Given the description of an element on the screen output the (x, y) to click on. 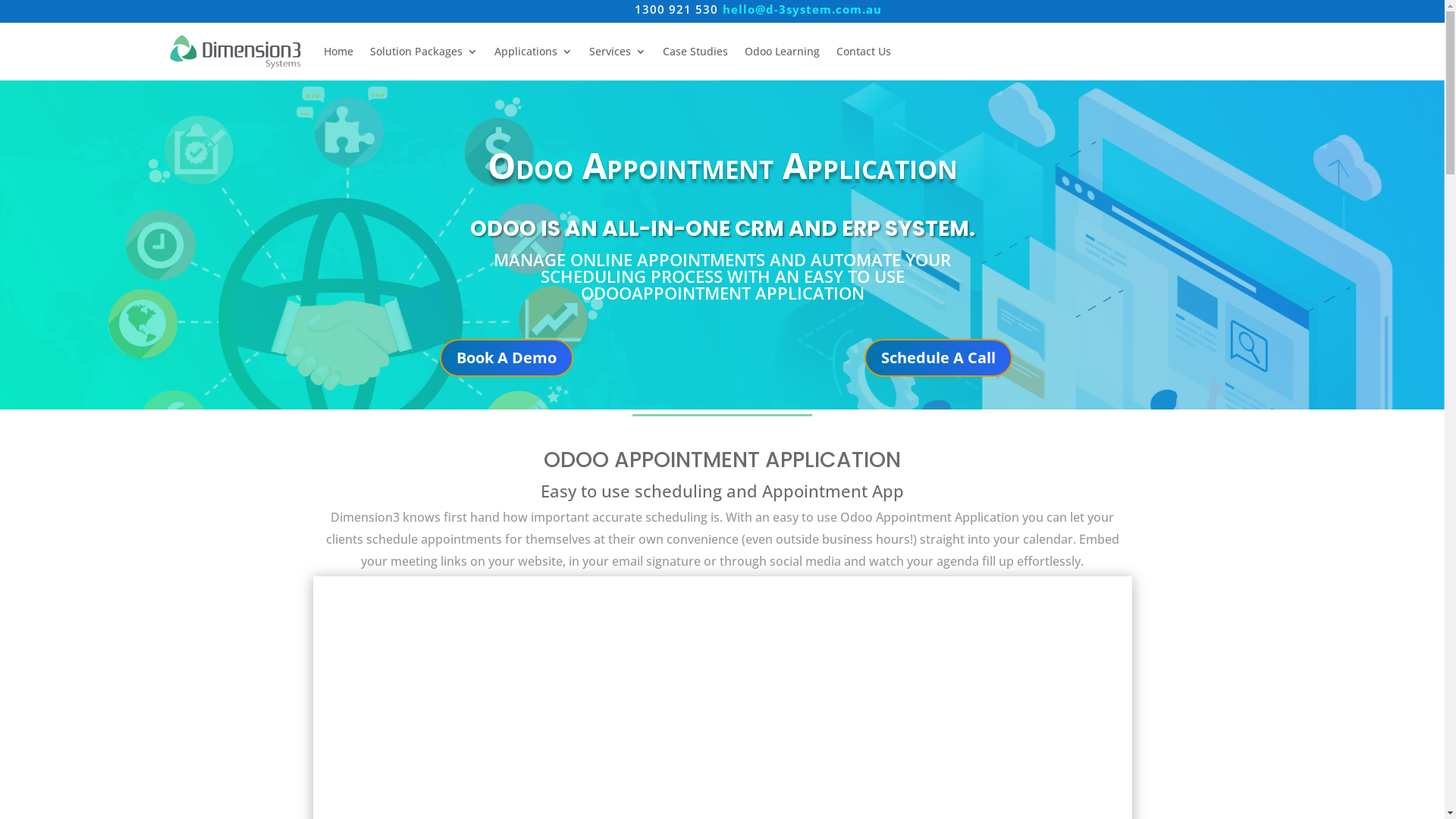
Book A Demo Element type: text (506, 357)
Solution Packages Element type: text (423, 51)
Odoo Learning Element type: text (781, 51)
Contact Us Element type: text (863, 51)
Applications Element type: text (533, 51)
hello@d-3system.com.au Element type: text (801, 8)
Schedule A Call Element type: text (938, 357)
Case Studies Element type: text (695, 51)
Home Element type: text (338, 51)
Services Element type: text (617, 51)
